Given the description of an element on the screen output the (x, y) to click on. 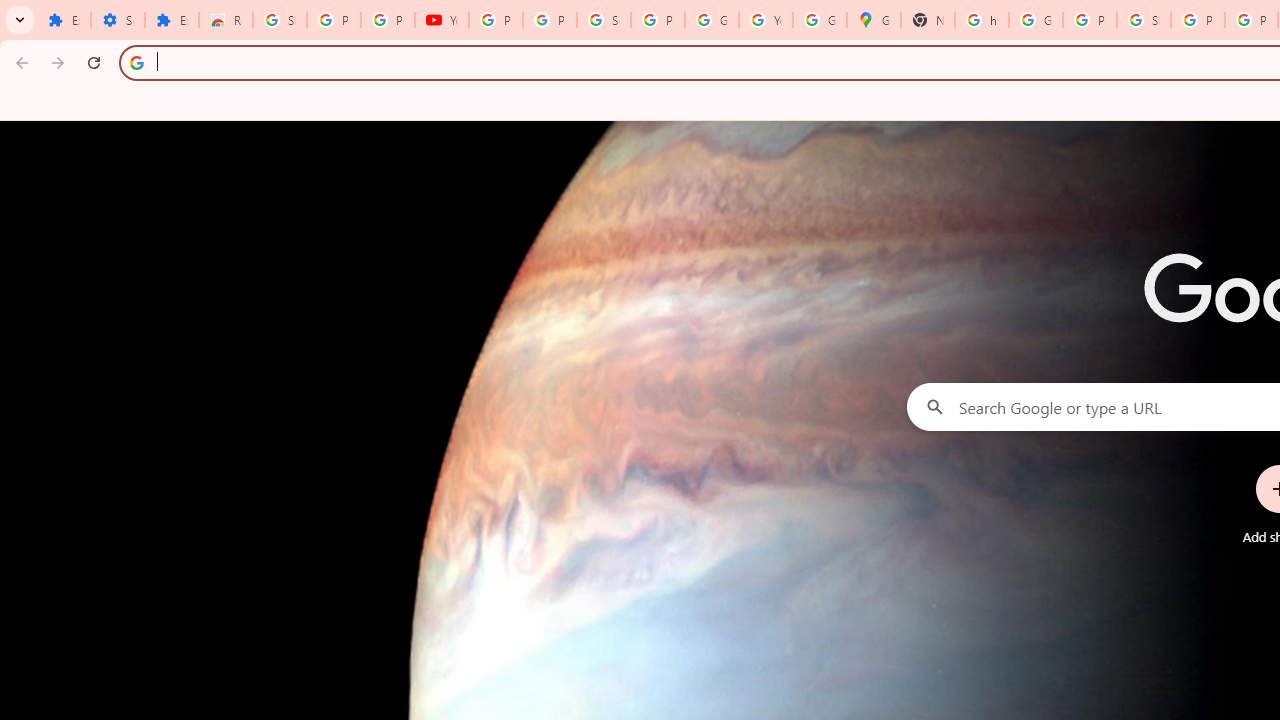
YouTube (765, 20)
Sign in - Google Accounts (280, 20)
Reviews: Helix Fruit Jump Arcade Game (225, 20)
Google Account (711, 20)
Extensions (171, 20)
Extensions (63, 20)
https://scholar.google.com/ (981, 20)
